Given the description of an element on the screen output the (x, y) to click on. 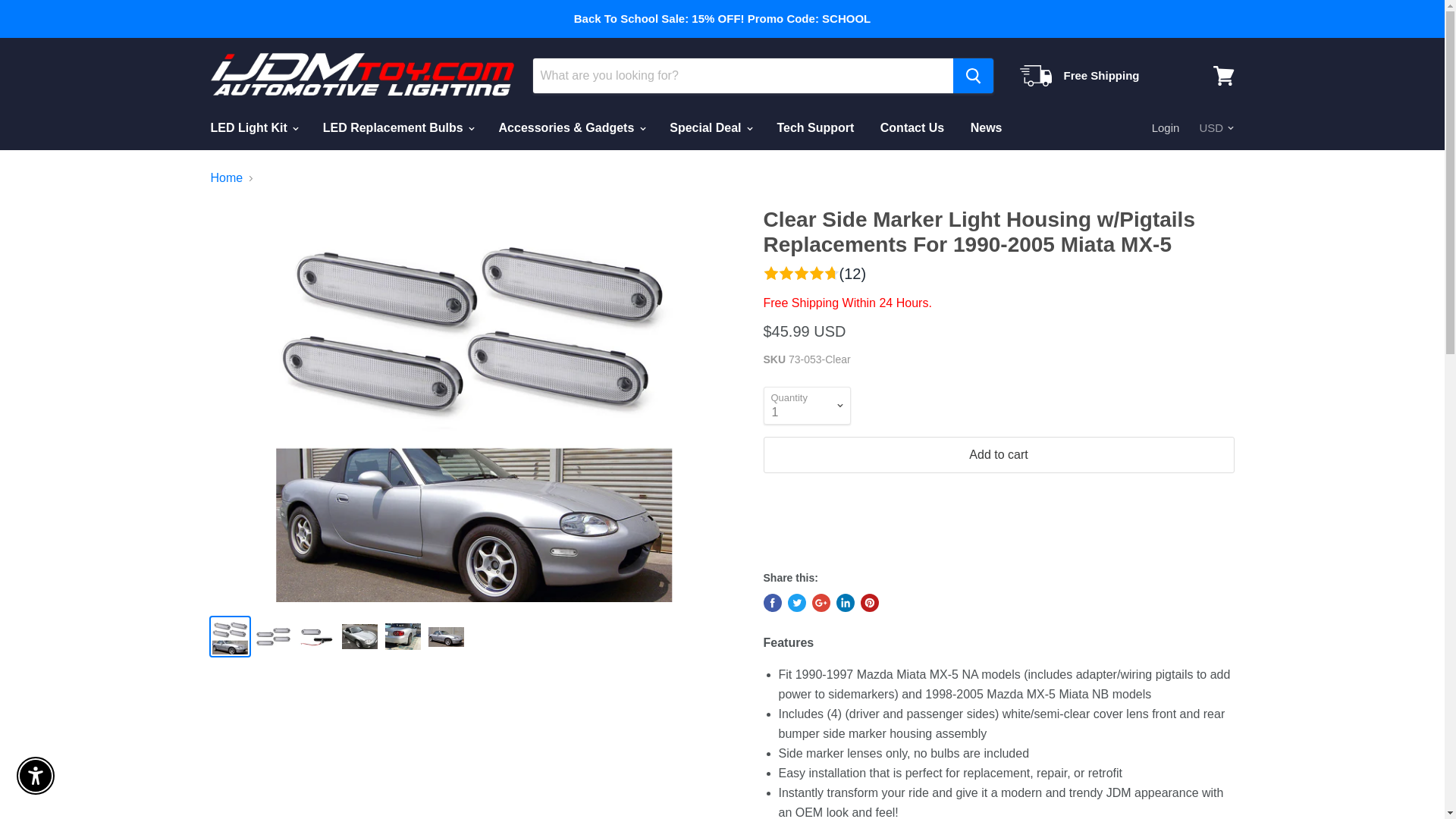
LED Replacement Bulbs (397, 128)
View cart (1223, 75)
LED Light Kit (252, 128)
